Given the description of an element on the screen output the (x, y) to click on. 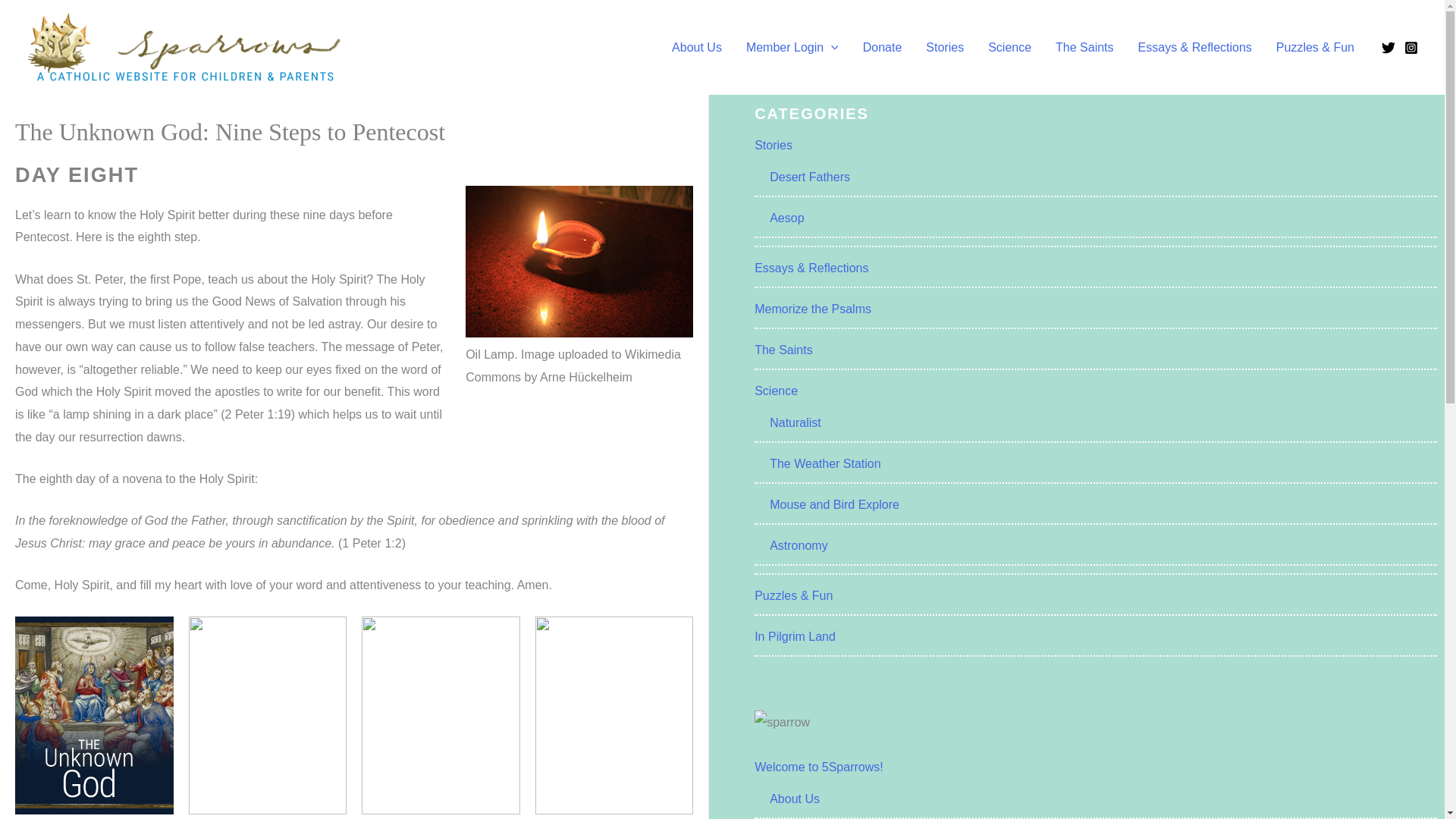
Stories (944, 47)
About Us (696, 47)
Donate (882, 47)
Science (1009, 47)
The Saints (1084, 47)
Member Login (791, 47)
